Given the description of an element on the screen output the (x, y) to click on. 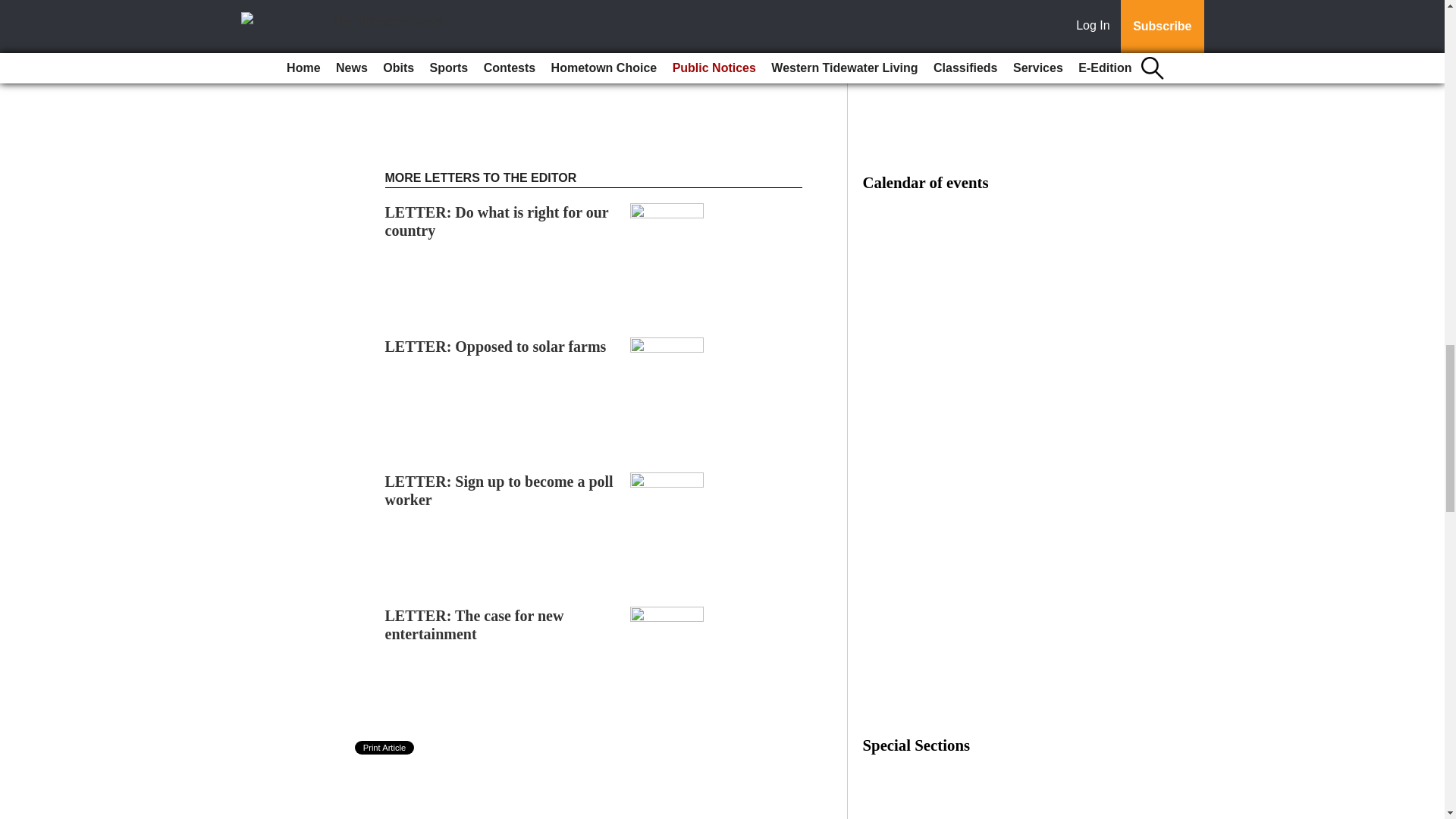
LETTER: Do what is right for our country (496, 221)
LETTER: Opposed to solar farms (496, 346)
LETTER: Do what is right for our country (496, 221)
LETTER: The case for new entertainment (474, 624)
LETTER: Opposed to solar farms (496, 346)
LETTER: Sign up to become a poll worker (498, 490)
